Given the description of an element on the screen output the (x, y) to click on. 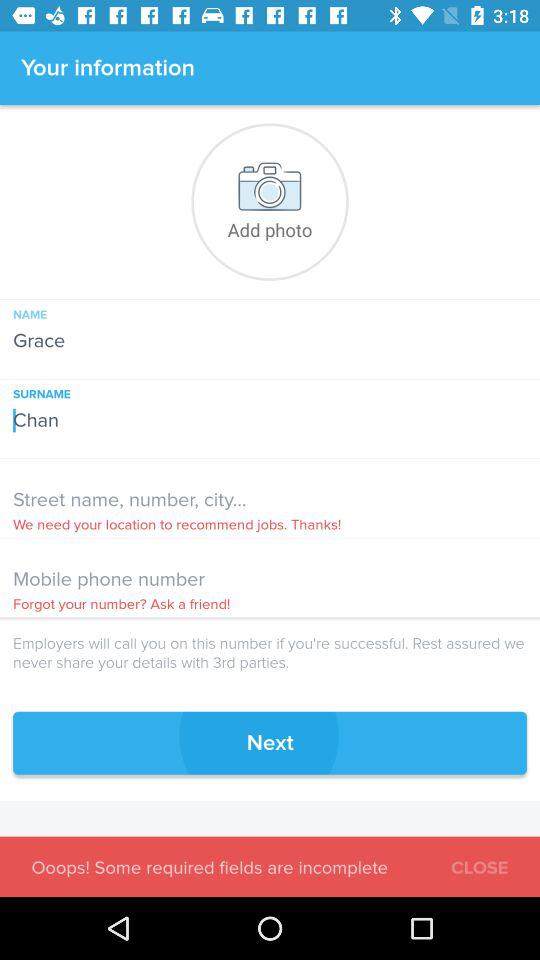
select the item at the bottom right corner (479, 864)
